Given the description of an element on the screen output the (x, y) to click on. 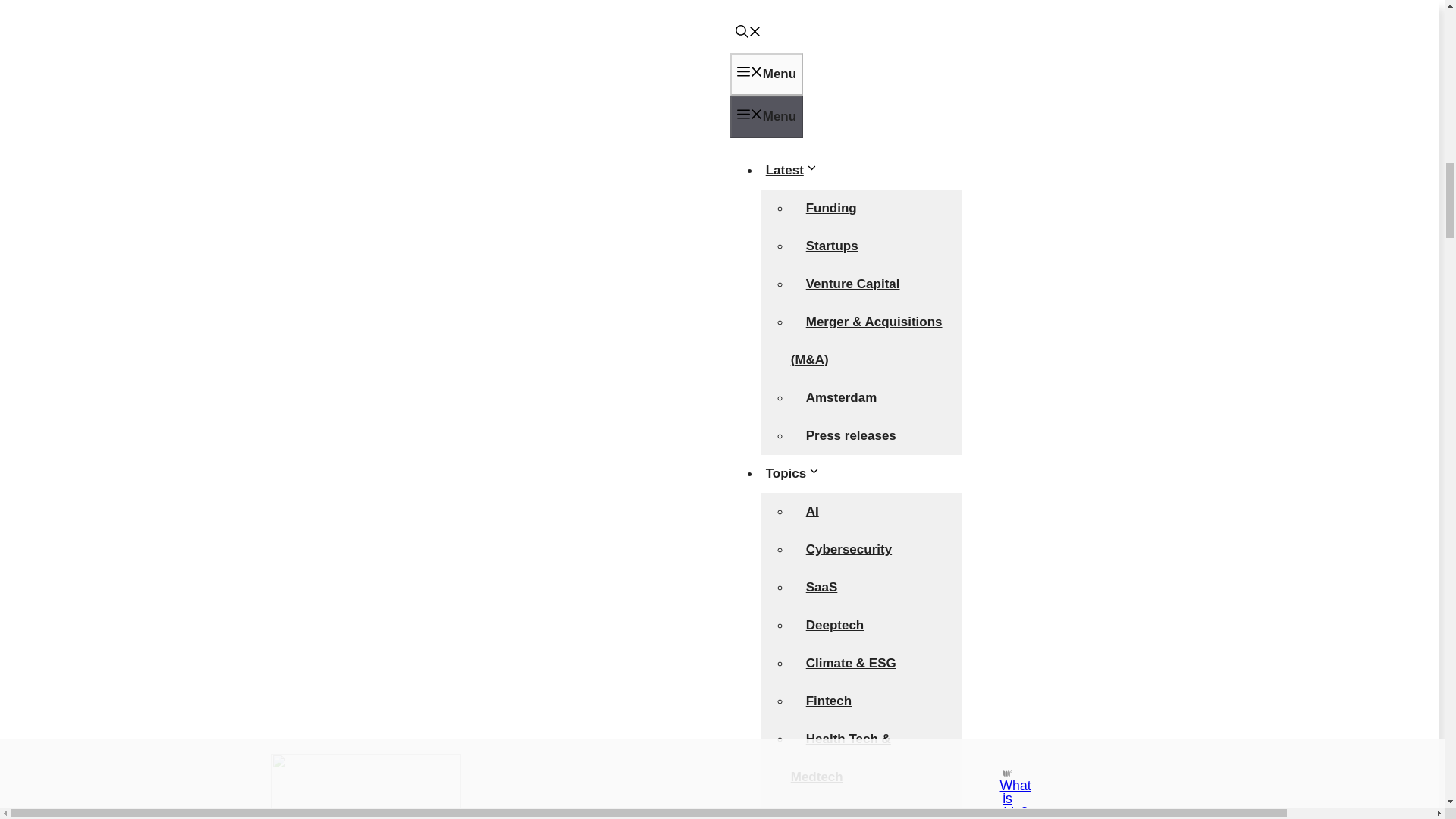
These startups are hiring (855, 4)
